Given the description of an element on the screen output the (x, y) to click on. 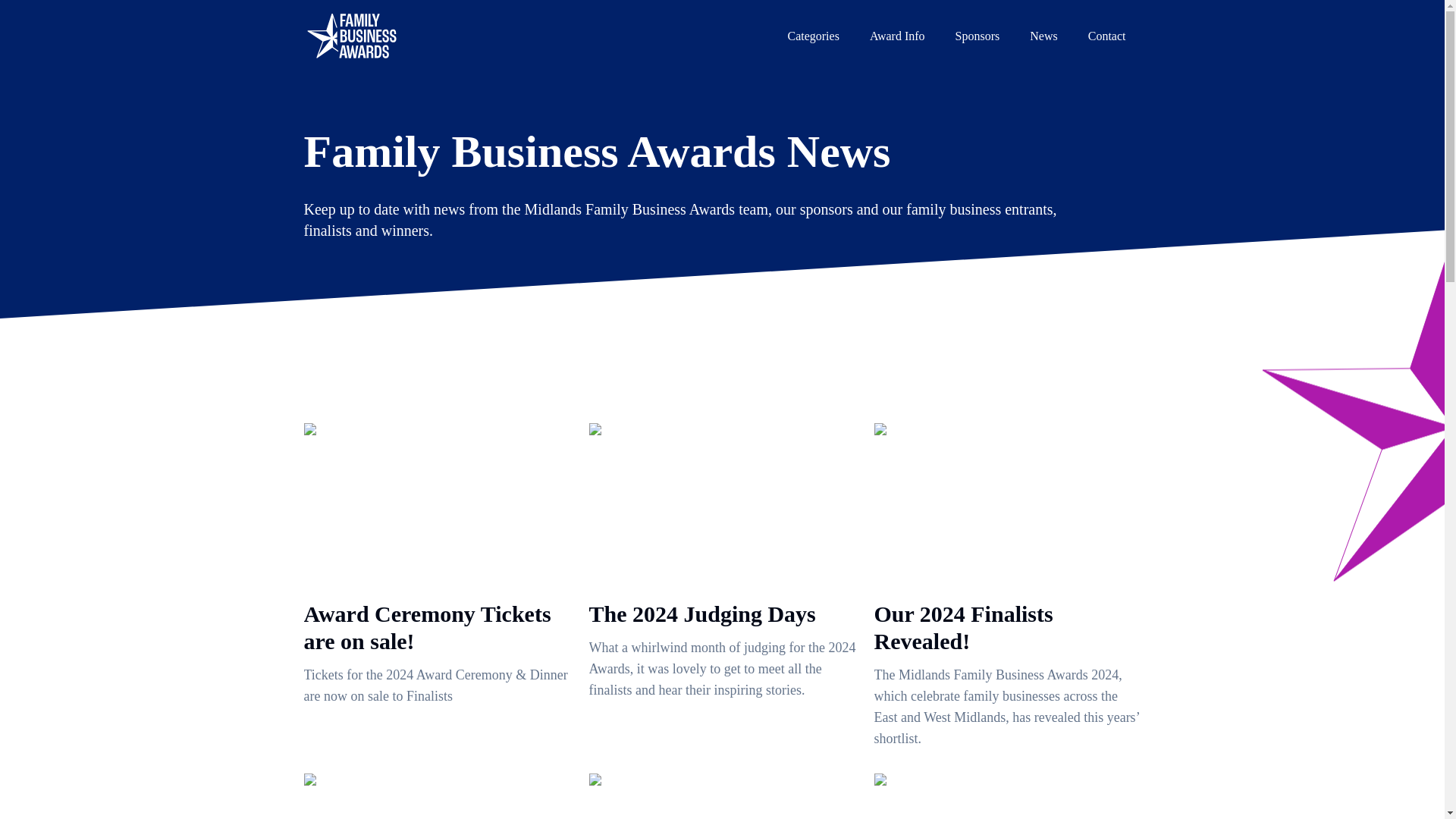
Categories (812, 36)
Contact (1107, 36)
Sponsors (977, 36)
News (1042, 36)
Award Info (897, 36)
Family Business Awards Homepage (351, 36)
